Given the description of an element on the screen output the (x, y) to click on. 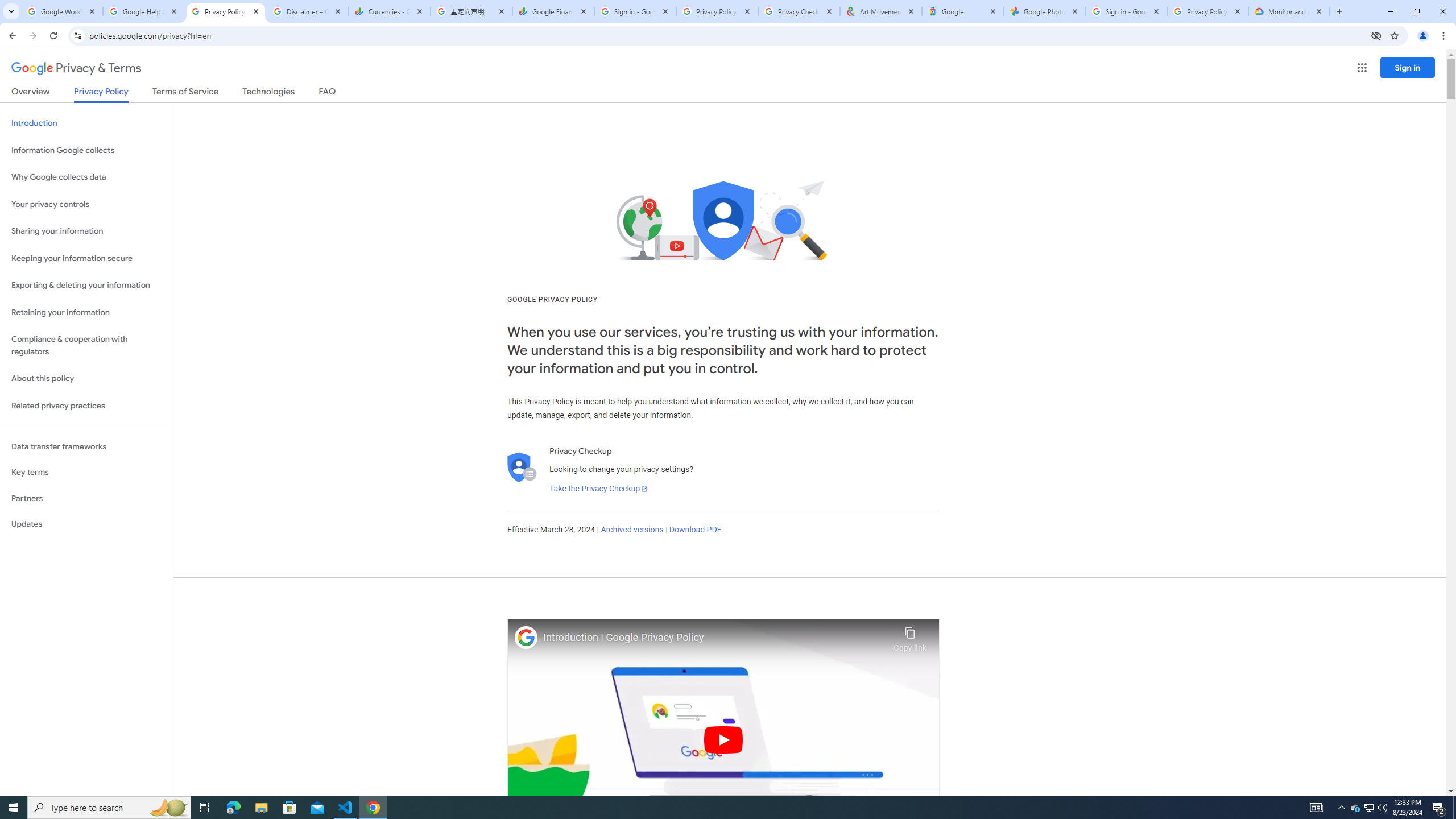
Copy link (909, 636)
Download PDF (695, 529)
Compliance & cooperation with regulators (86, 345)
Why Google collects data (86, 176)
